Given the description of an element on the screen output the (x, y) to click on. 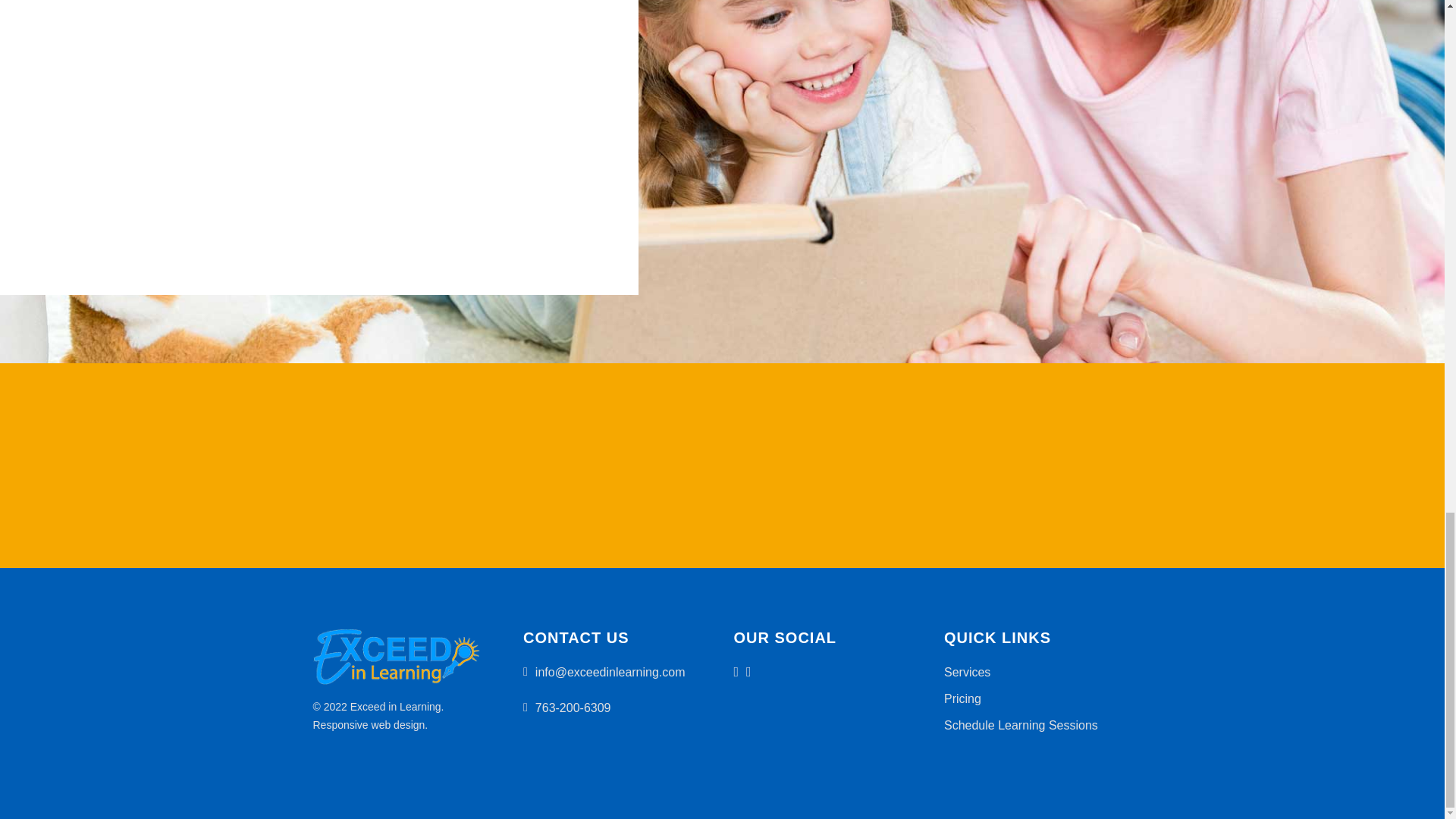
Schedule Learning Sessions (1020, 725)
Pricing (962, 698)
Services (966, 671)
763-200-6309 (573, 707)
Responsive web design. (370, 725)
